Given the description of an element on the screen output the (x, y) to click on. 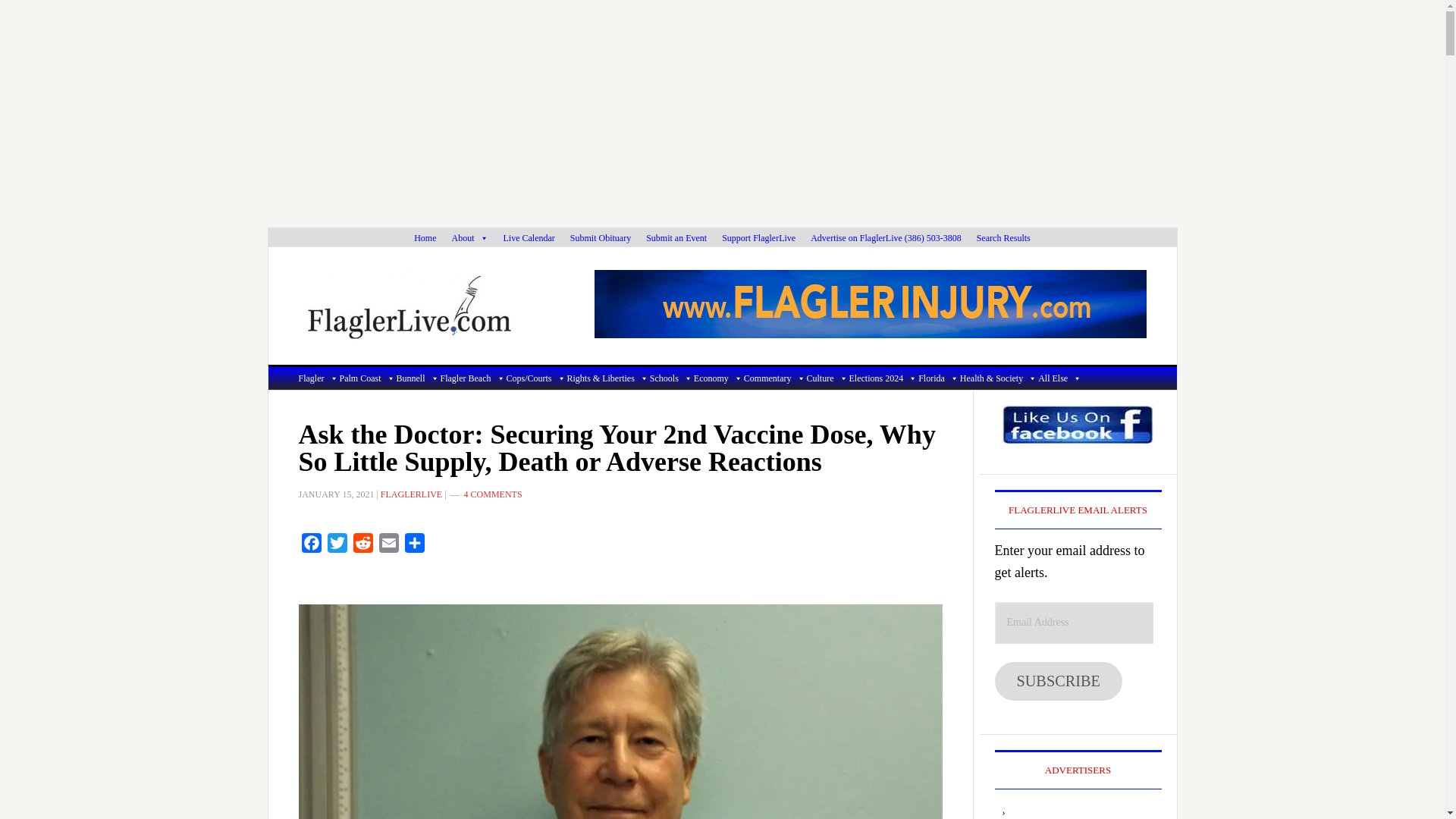
Support FlaglerLive (758, 237)
Live Calendar (529, 237)
Palm Coast (366, 377)
About (470, 237)
Search Results (1003, 237)
Bunnell (417, 377)
Twitter (337, 545)
Facebook (311, 545)
Submit Obituary (600, 237)
Flagler Beach (473, 377)
Home (425, 237)
FLAGLERLIVE (435, 306)
Reddit (362, 545)
